Given the description of an element on the screen output the (x, y) to click on. 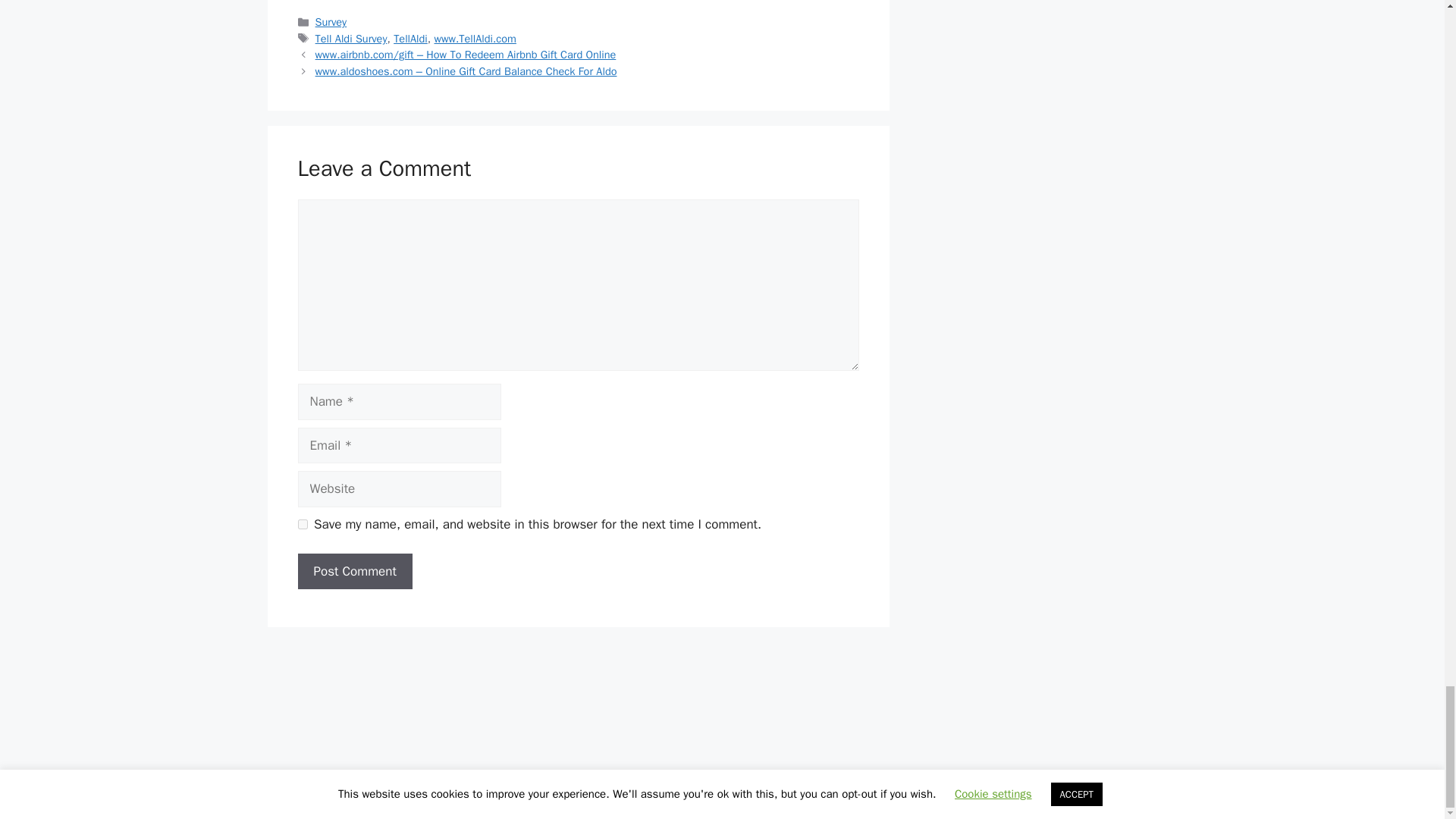
Post Comment (354, 571)
TellAldi (410, 38)
Tell Aldi Survey (351, 38)
Post Comment (354, 571)
yes (302, 524)
Survey (331, 21)
www.TellAldi.com (474, 38)
